Given the description of an element on the screen output the (x, y) to click on. 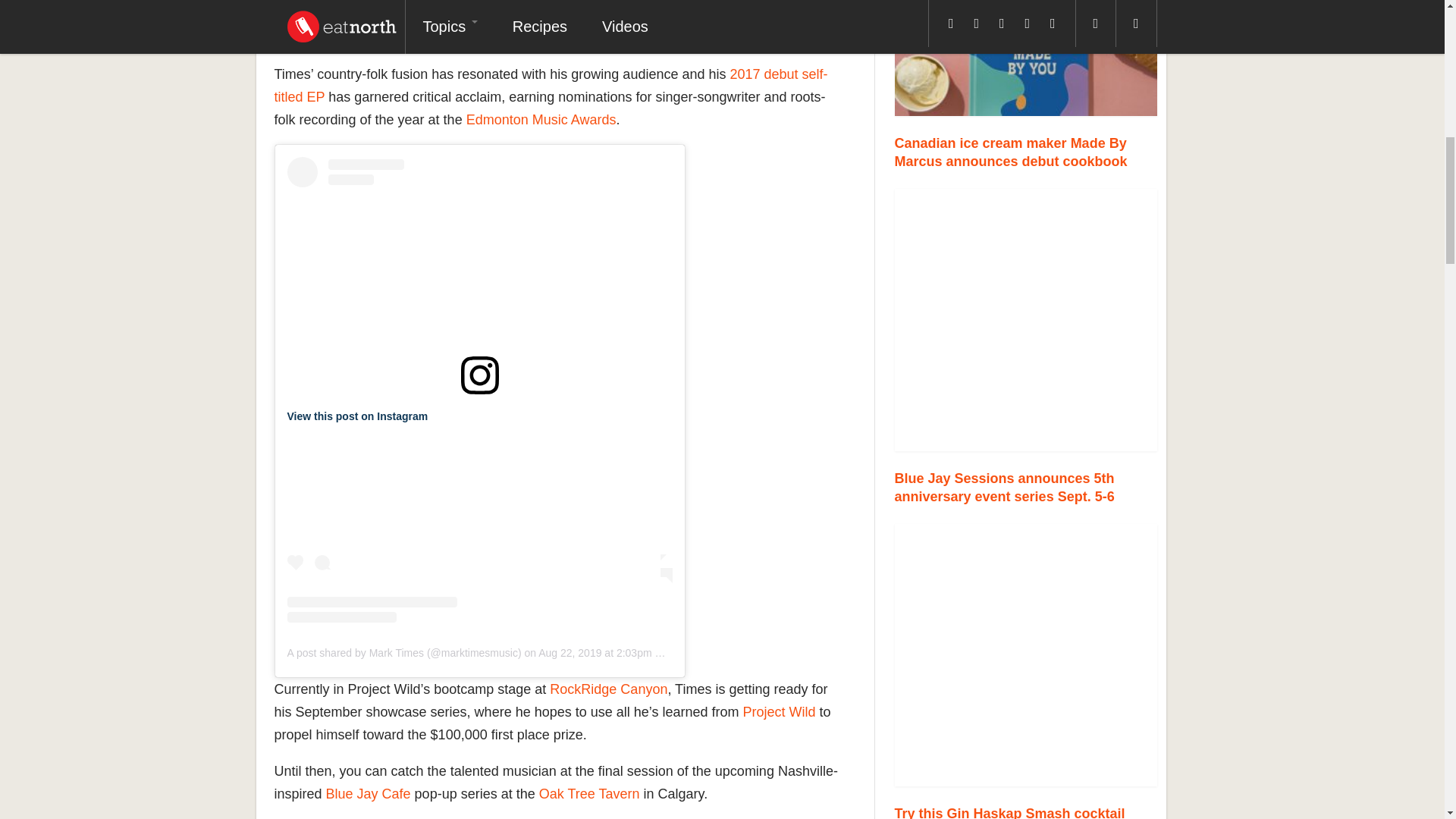
RockRidge Canyon (608, 688)
Blue Jay Cafe (368, 793)
View this post on Instagram (357, 416)
Oak Tree Tavern (589, 793)
Edmonton Music Awards (540, 119)
Photo by Emily Holloway. (1026, 320)
Photos by Dong Kim. (1026, 655)
Project Wild (778, 711)
2017 debut self-titled EP (551, 85)
